Given the description of an element on the screen output the (x, y) to click on. 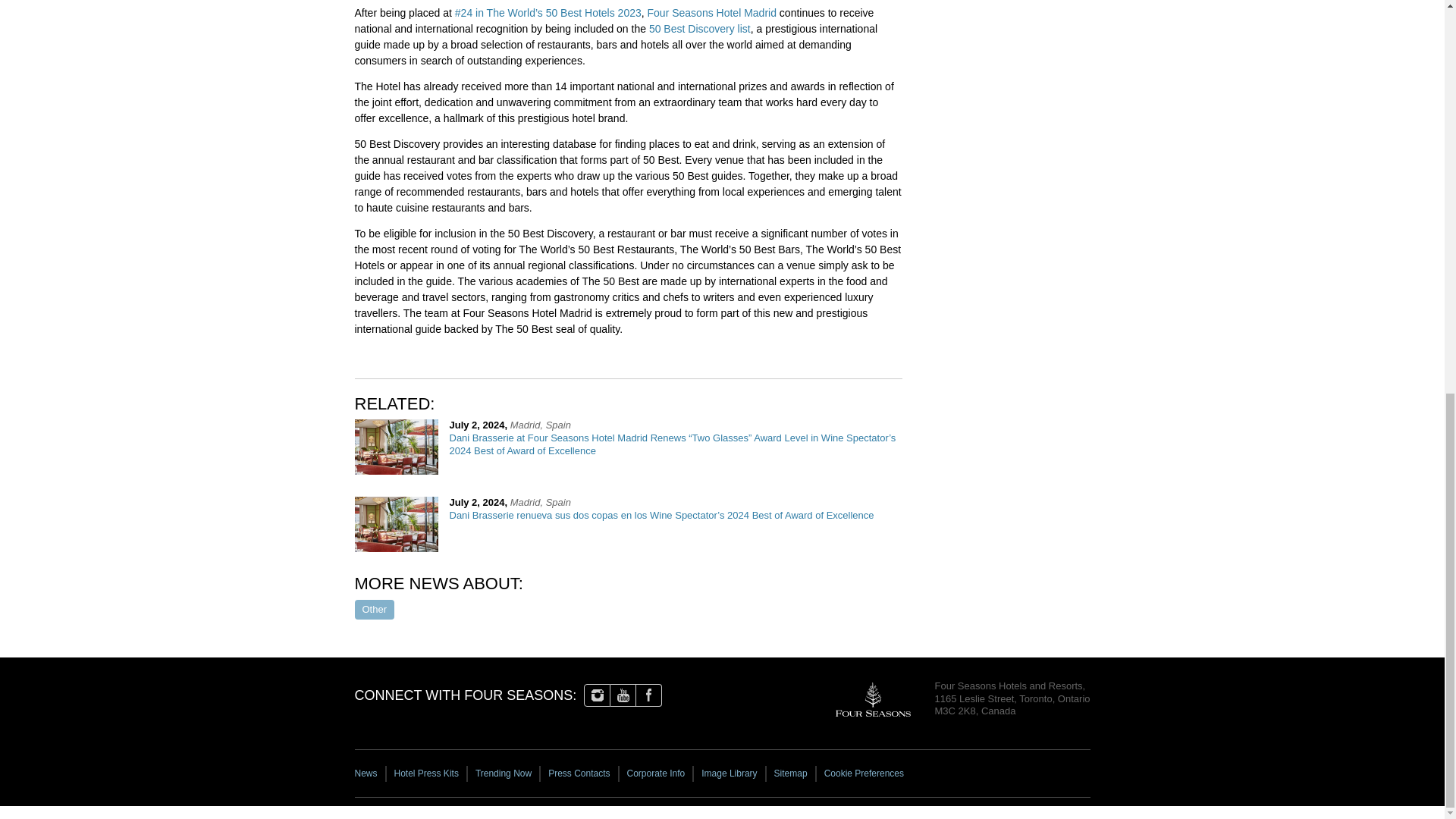
50 Best Discovery list (700, 28)
Dani (396, 524)
Four Seasons Hotel Madrid (711, 12)
Other (374, 609)
Dani (396, 447)
